Given the description of an element on the screen output the (x, y) to click on. 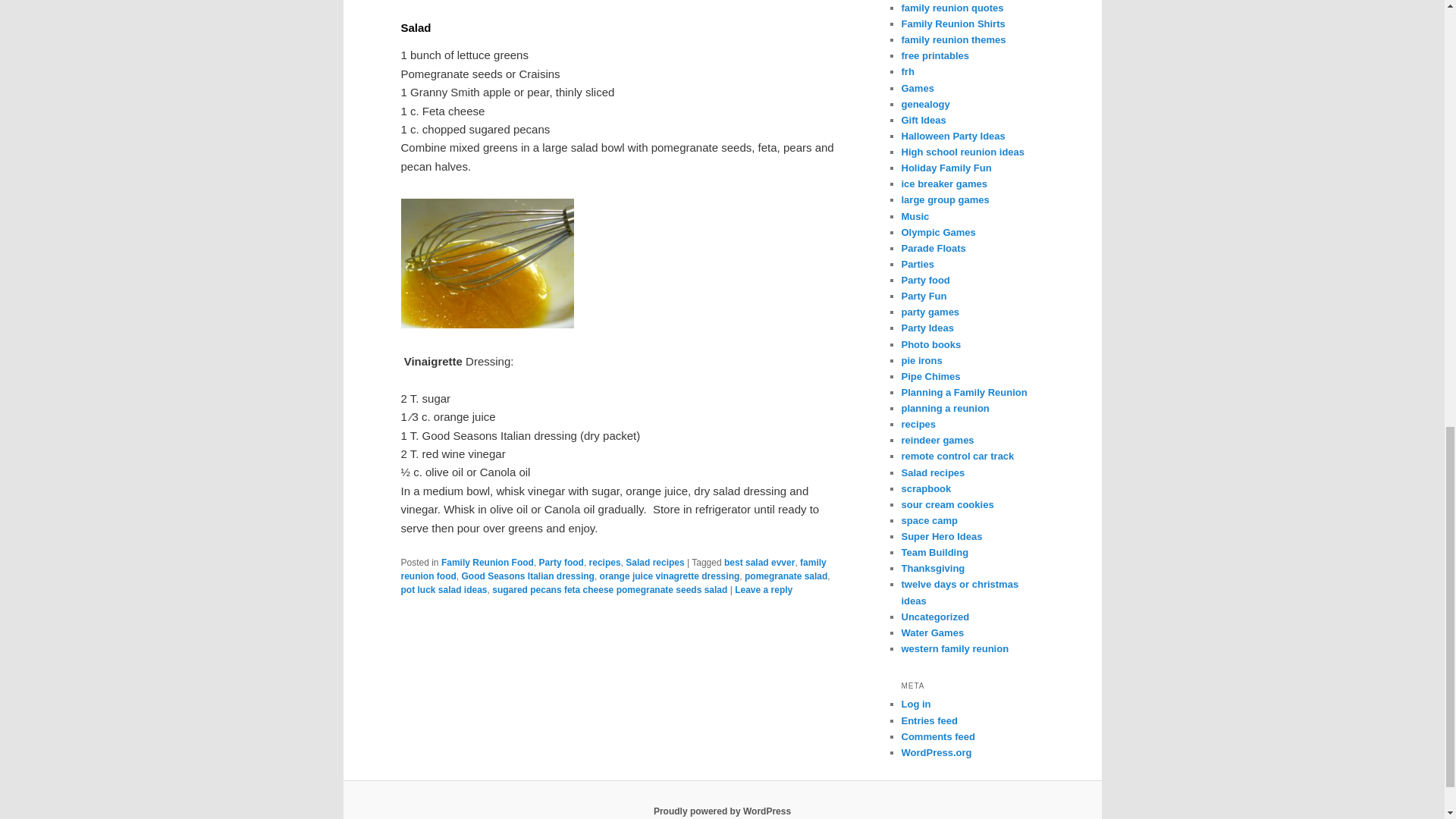
family reunion food (612, 569)
pomegranate salad (785, 575)
best salad evver (758, 562)
orange juice vinagrette dressing (669, 575)
Family Reunion Food (487, 562)
Good Seasons Italian dressing (527, 575)
pot luck salad ideas (443, 589)
Leave a reply (763, 589)
recipes (605, 562)
sugared pecans feta cheese pomegranate seeds salad (609, 589)
